Given the description of an element on the screen output the (x, y) to click on. 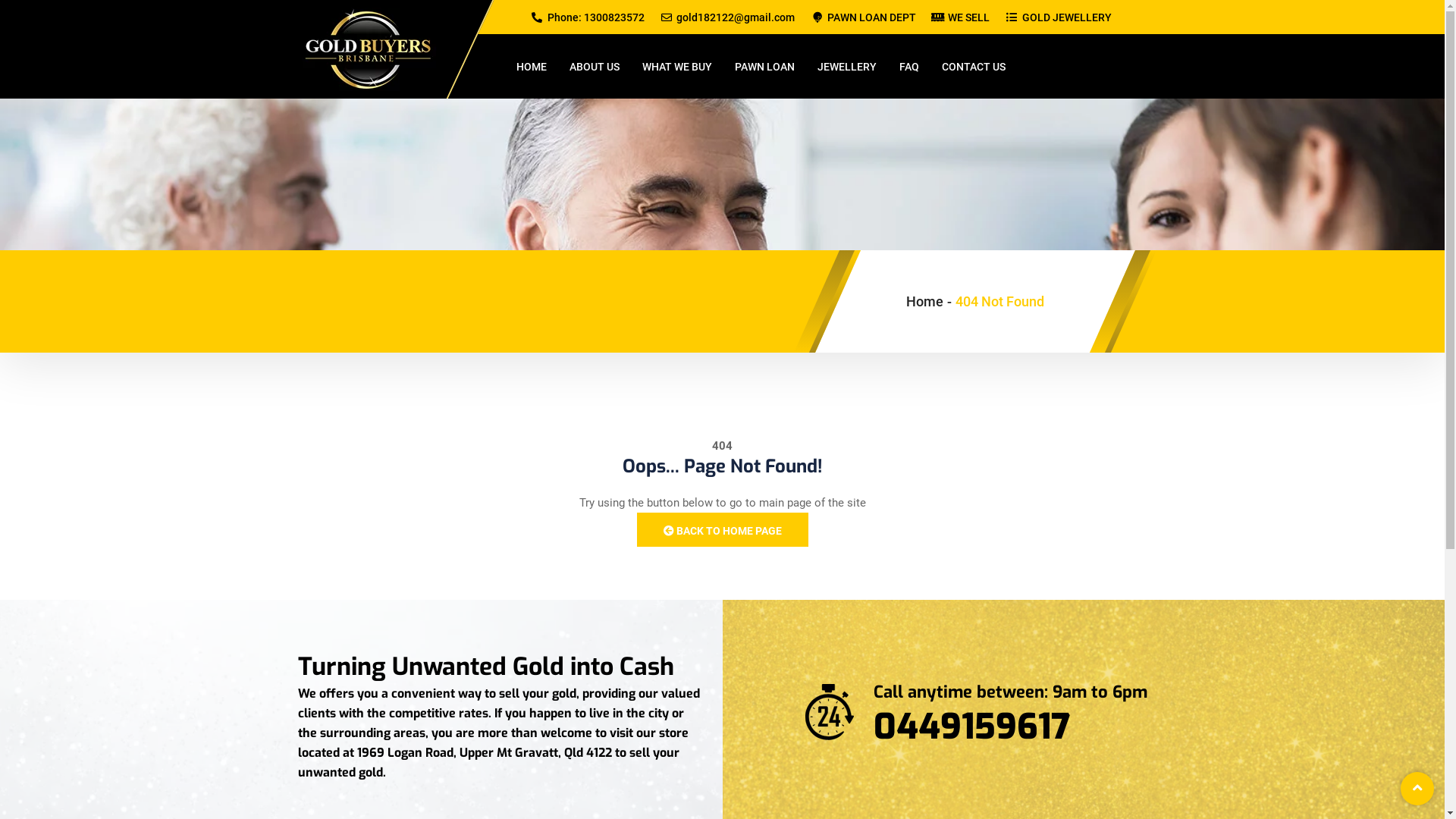
HOME Element type: text (541, 66)
GOLD JEWELLERY Element type: text (1057, 17)
BACK TO HOME PAGE Element type: text (722, 529)
CONTACT US Element type: text (973, 66)
PAWN LOAN DEPT Element type: text (862, 17)
JEWELLERY Element type: text (858, 66)
Call anytime between: 9am to 6pm
0449159617 Element type: text (937, 713)
Phone: 1300823572 Element type: text (587, 17)
PAWN LOAN Element type: text (775, 66)
WHAT WE BUY Element type: text (687, 66)
FAQ Element type: text (920, 66)
Home Element type: text (923, 300)
gold182122@gmail.com Element type: text (727, 17)
ABOUT US Element type: text (604, 66)
WE SELL Element type: text (960, 17)
